Given the description of an element on the screen output the (x, y) to click on. 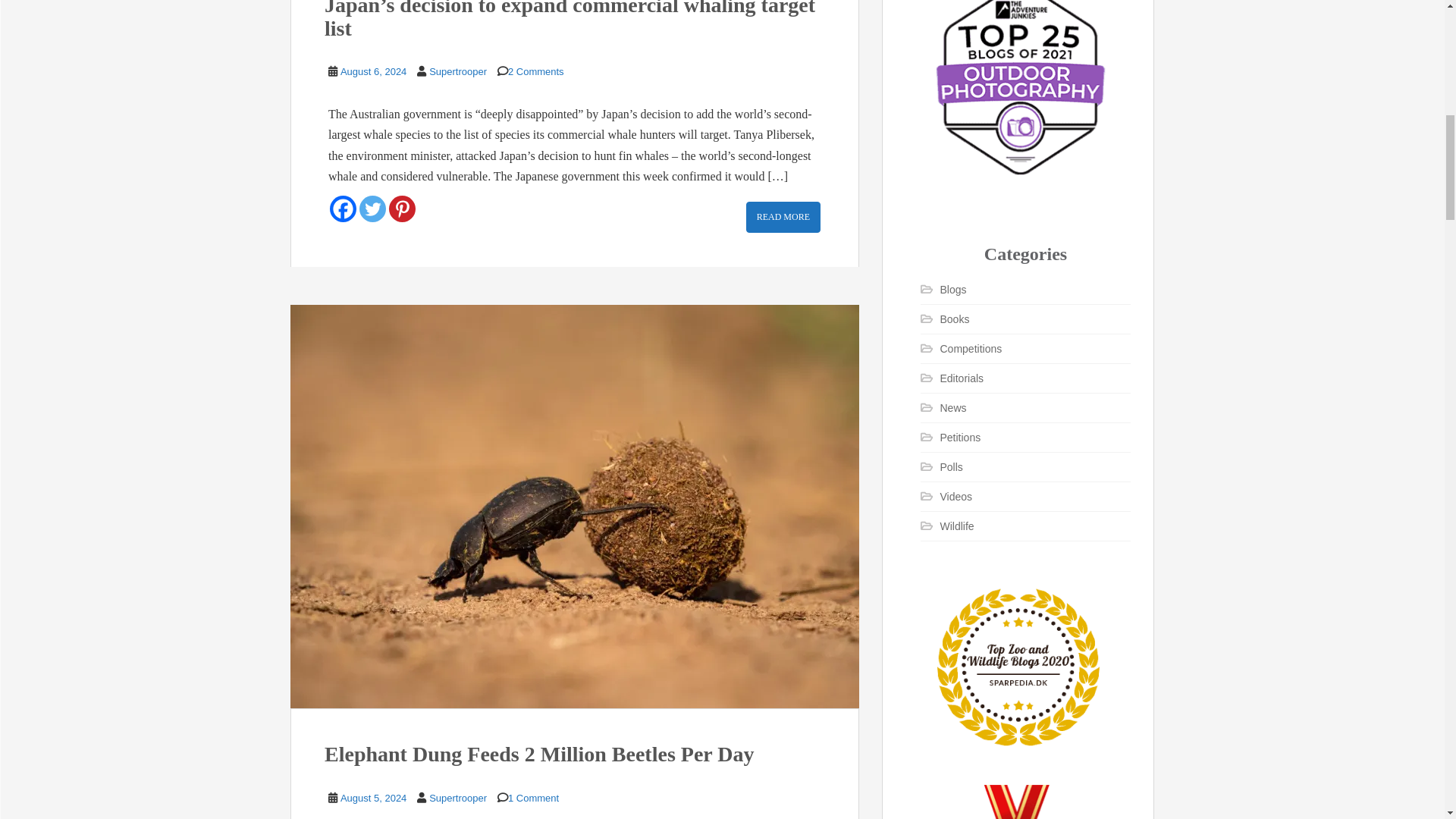
Pinterest (401, 208)
August 6, 2024 (373, 71)
Elephant Dung Feeds 2 Million Beetles Per Day (539, 753)
August 5, 2024 (373, 797)
2 Comments (536, 71)
Facebook (343, 208)
Supertrooper (457, 797)
1 Comment (533, 797)
READ MORE (783, 216)
